Given the description of an element on the screen output the (x, y) to click on. 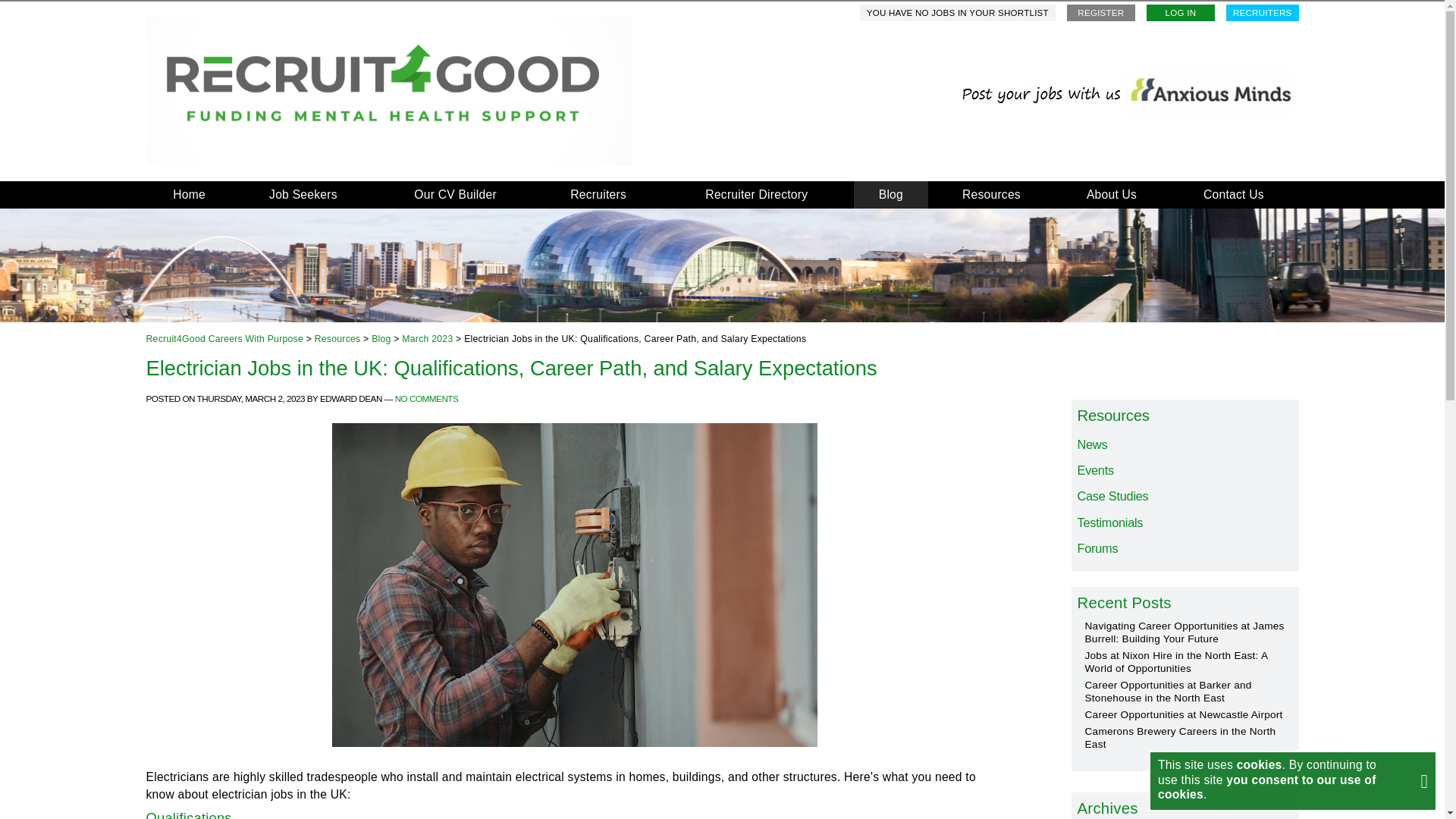
Resources (1184, 415)
Home (188, 194)
Job Seekers (303, 194)
Contact Us (1233, 194)
Recruiters (598, 194)
Forums (1184, 548)
Blog (890, 194)
News (1184, 444)
Testimonials (1184, 523)
Recruiter Directory (756, 194)
Case Studies (1184, 496)
Resources (991, 194)
